Given the description of an element on the screen output the (x, y) to click on. 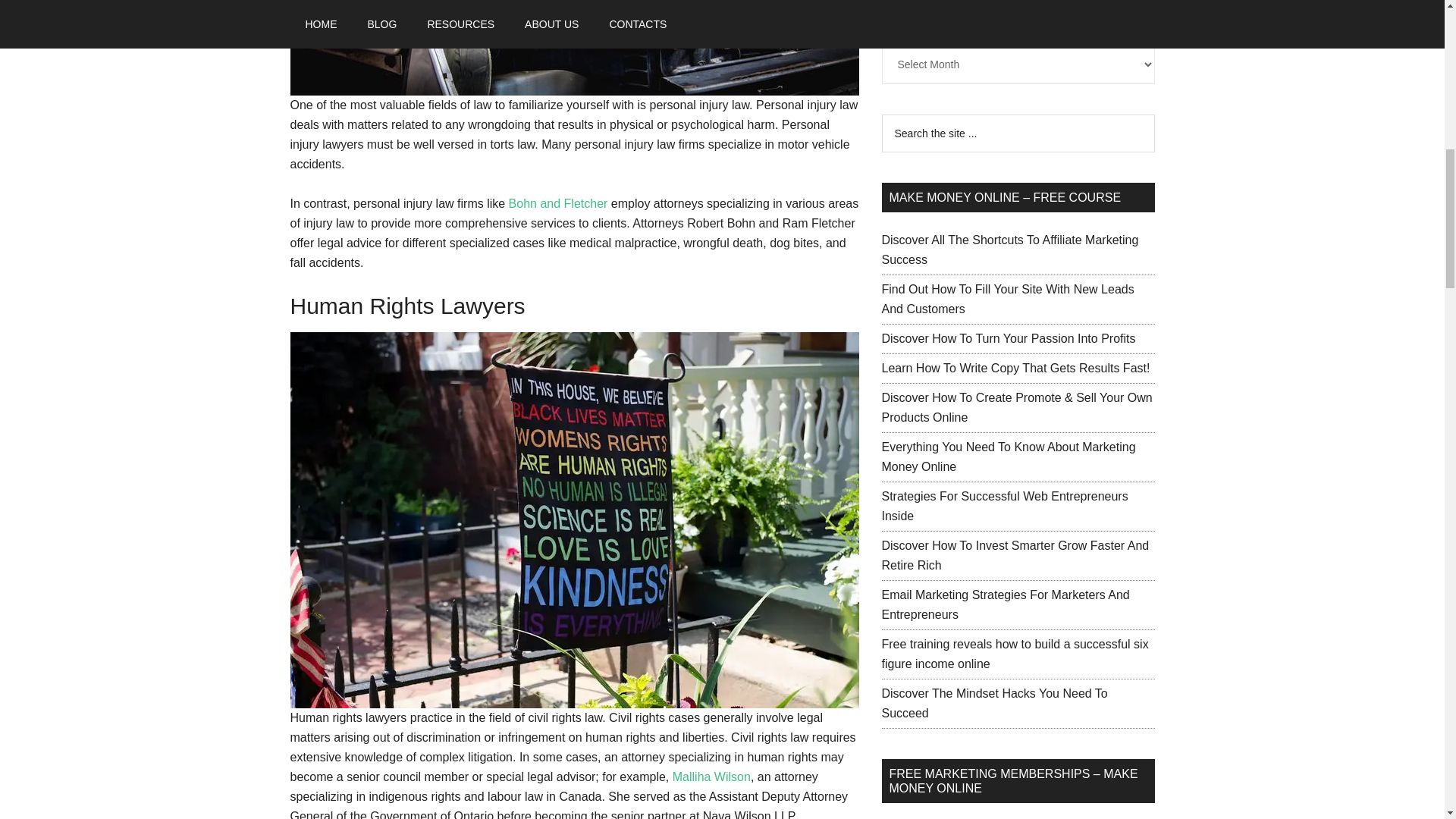
Bohn and Fletcher (558, 203)
Malliha Wilson (711, 776)
